Given the description of an element on the screen output the (x, y) to click on. 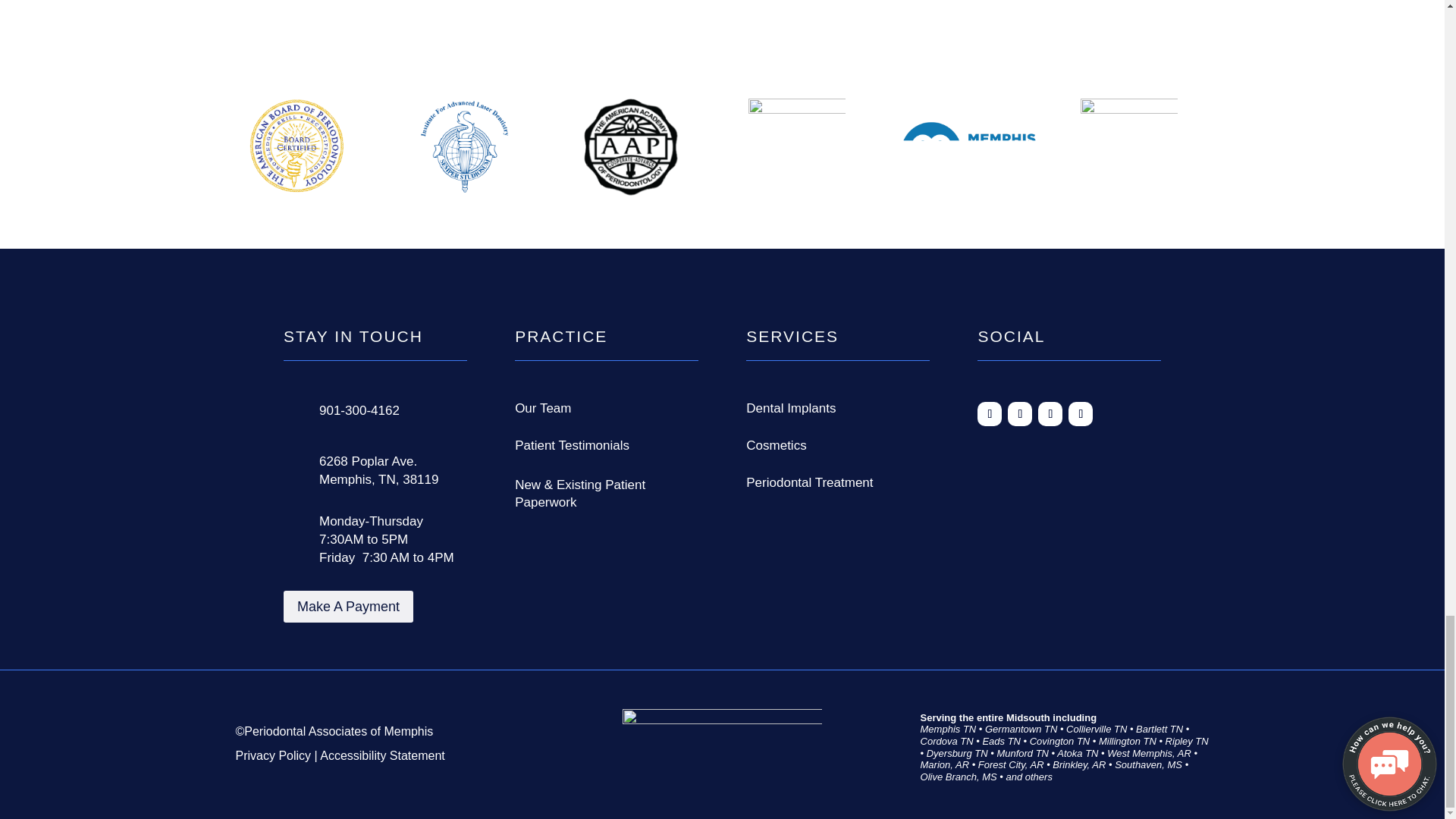
AWARDS footer-38 (796, 149)
AWARDS footer-35 (297, 146)
AWARDS footer-36 (463, 146)
AWARDS footer-37 (630, 146)
AWARDS footer-40 (1128, 150)
Follow on Youtube (1080, 413)
Follow on Google (1019, 413)
Follow on Facebook (988, 413)
Follow on Instagram (1050, 413)
AWARDS footer-39 (967, 153)
